Given the description of an element on the screen output the (x, y) to click on. 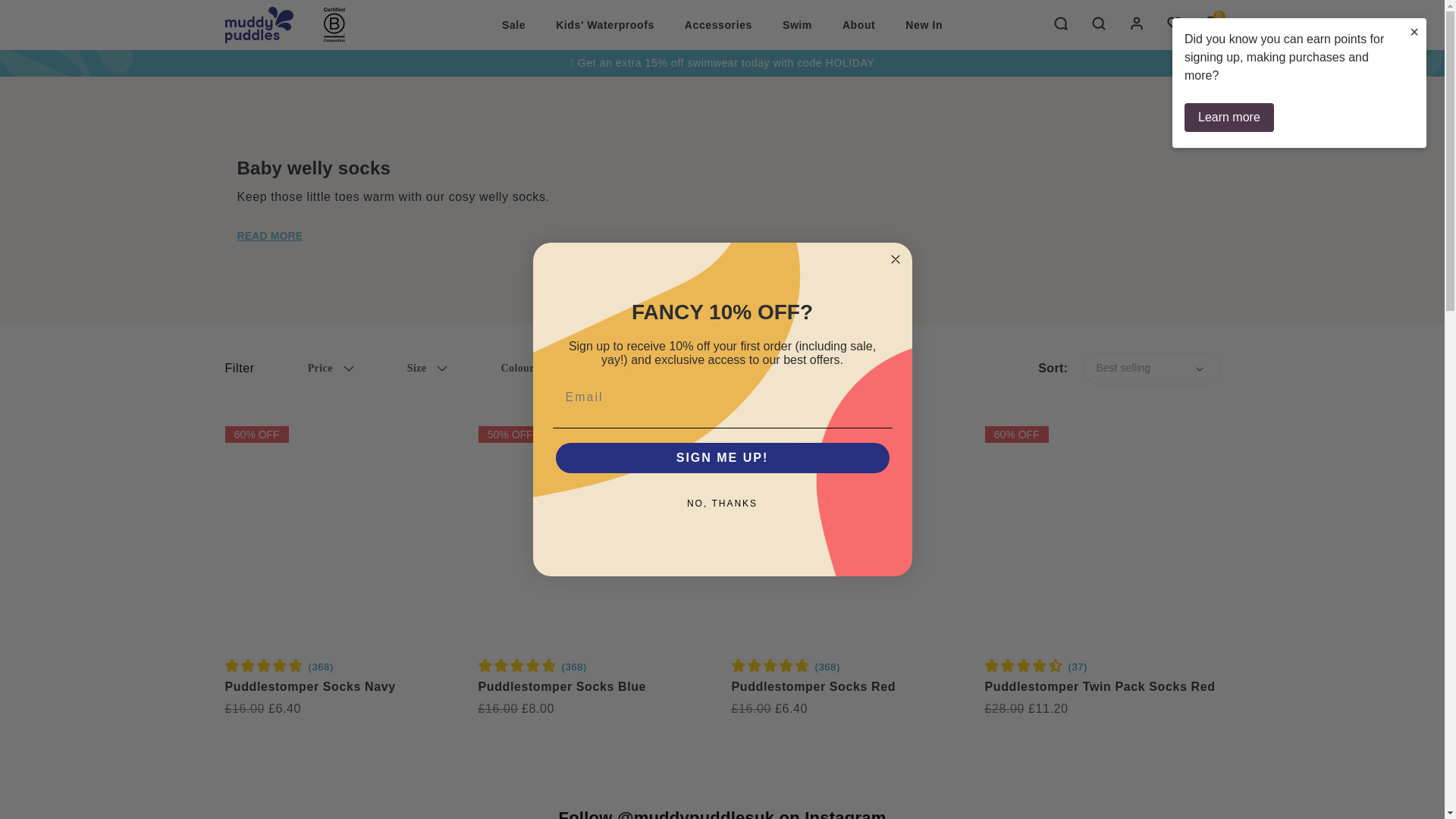
About (858, 24)
Swim (796, 24)
Kids' Waterproofs (605, 24)
Accessories (718, 24)
Skip to content (45, 17)
